Given the description of an element on the screen output the (x, y) to click on. 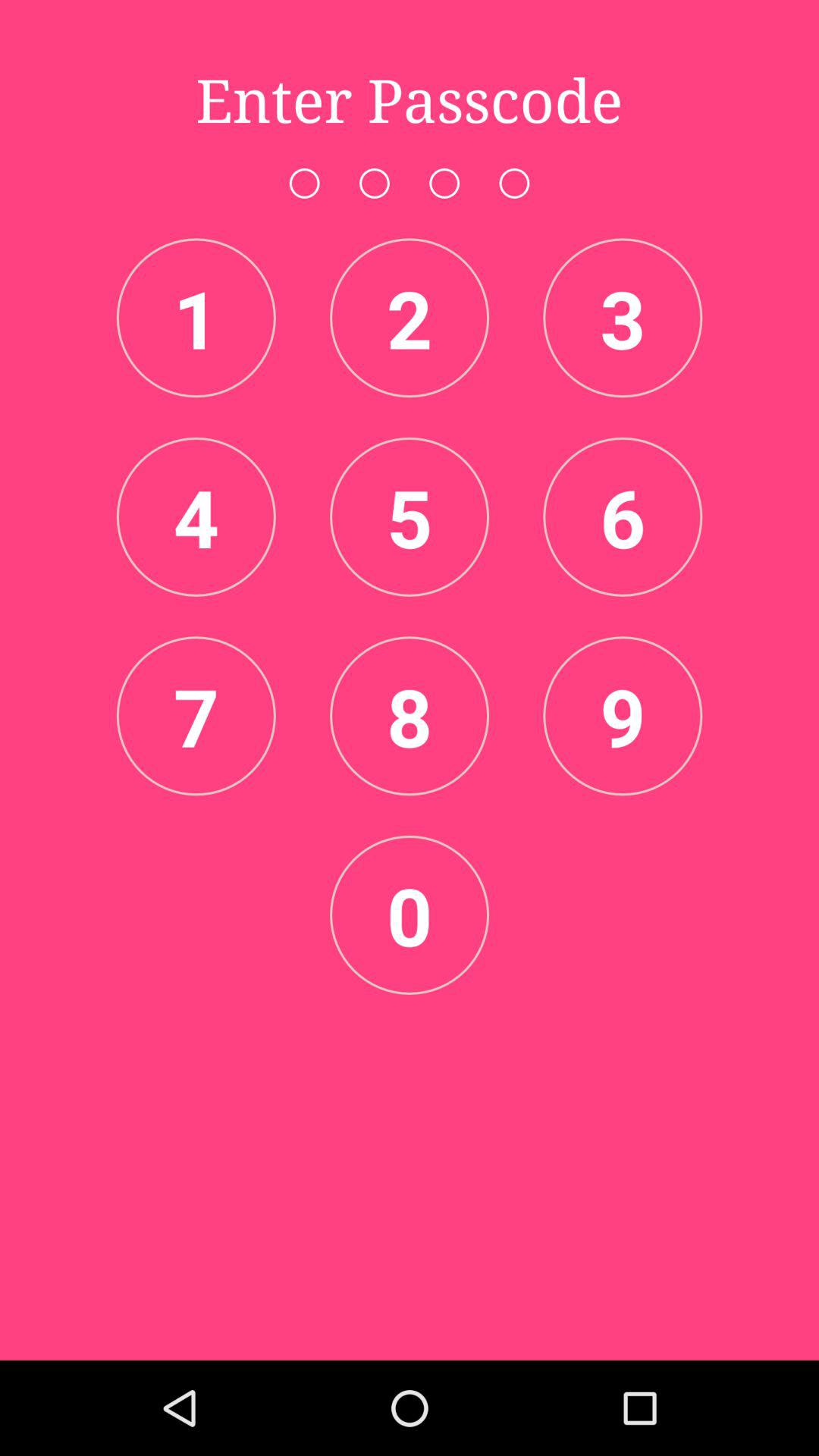
select the 6 item (622, 516)
